Given the description of an element on the screen output the (x, y) to click on. 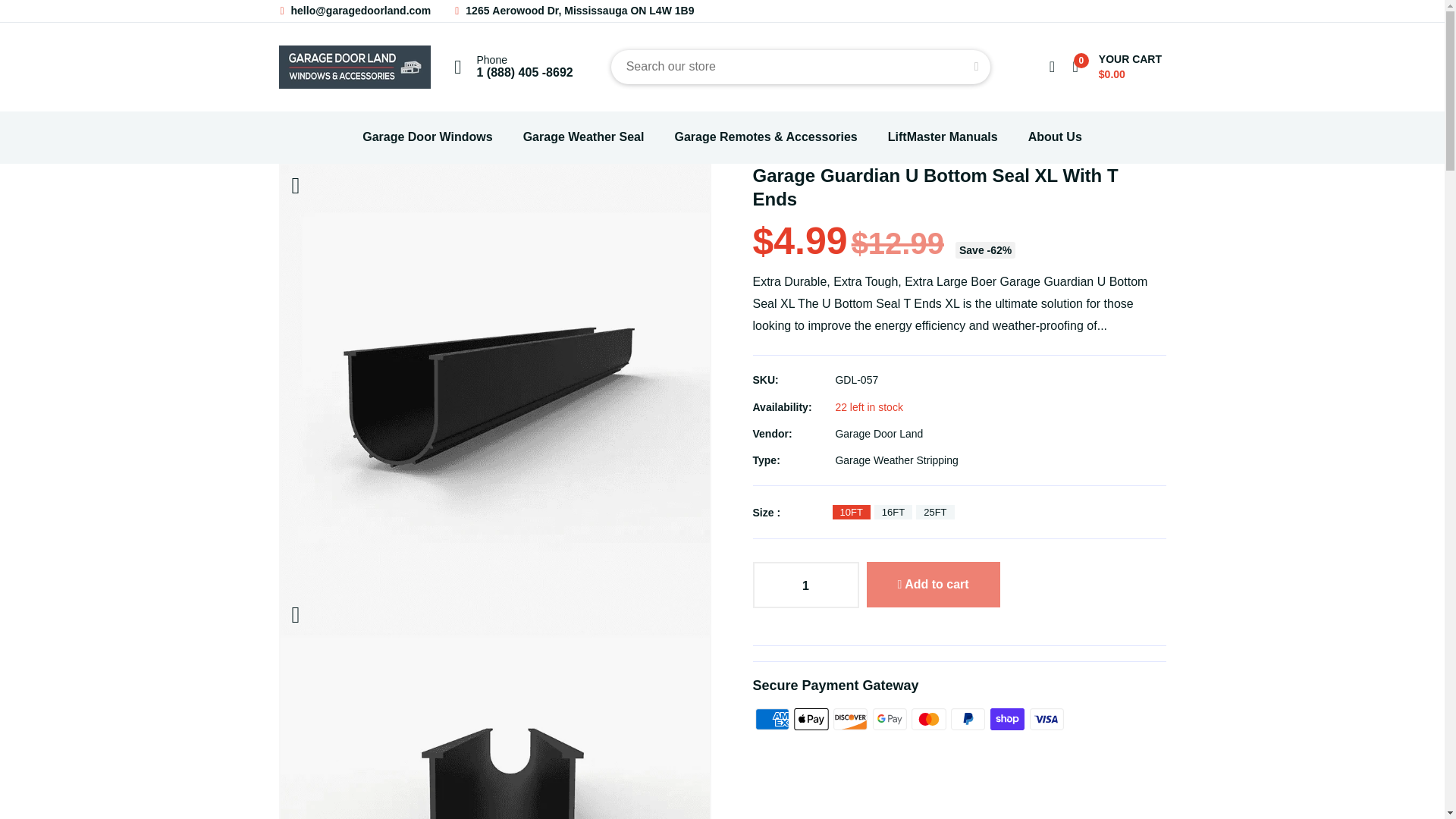
1 (804, 586)
1265 Aerowood Dr, Mississauga ON L4W 1B9 (573, 10)
LiftMaster Manuals (943, 137)
tel:1-888-405-8692 (524, 72)
Garage Weather Seal (583, 137)
Garage Door Windows (427, 137)
About Us (1054, 137)
